Given the description of an element on the screen output the (x, y) to click on. 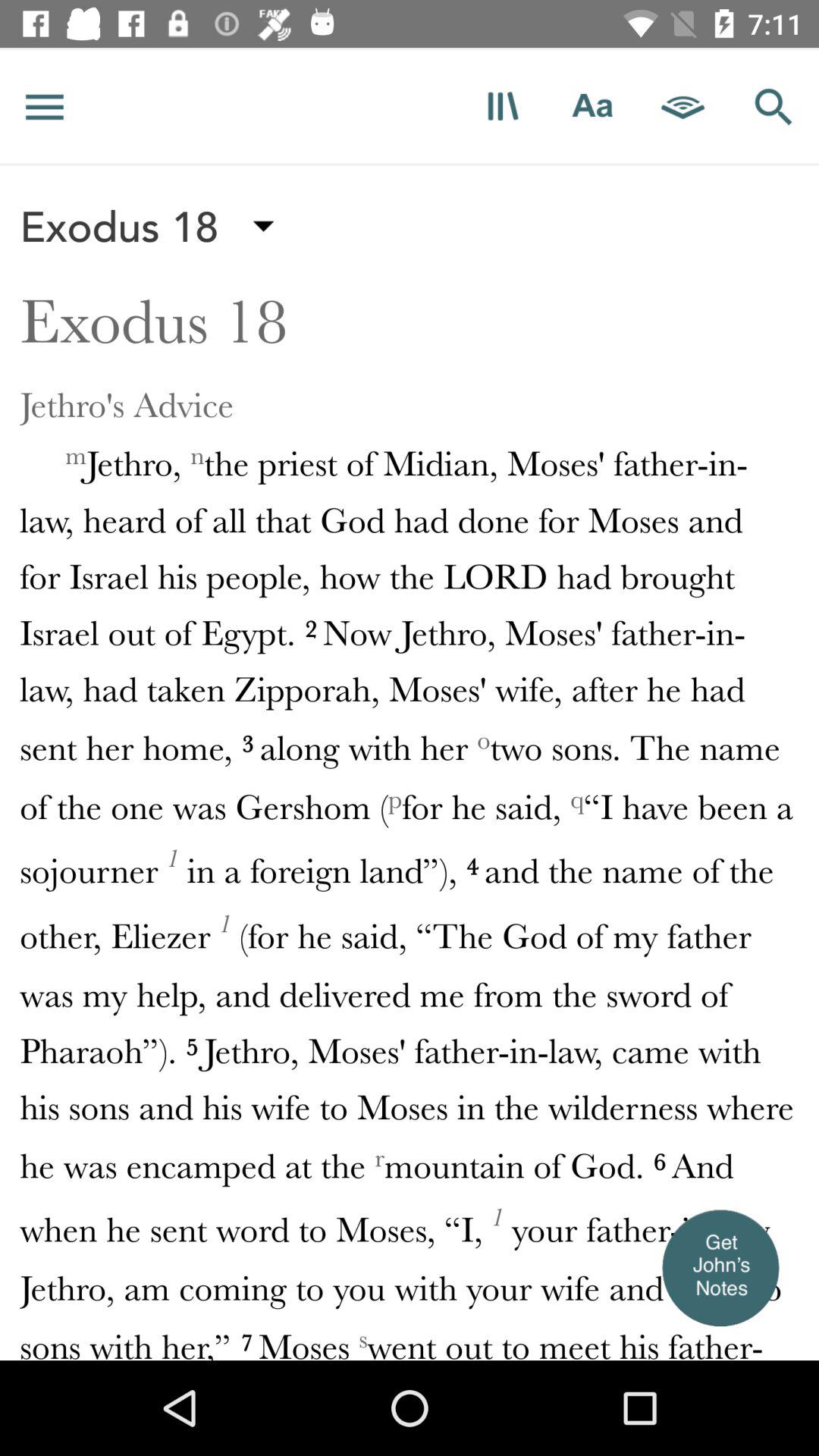
listen to scripture (683, 106)
